Given the description of an element on the screen output the (x, y) to click on. 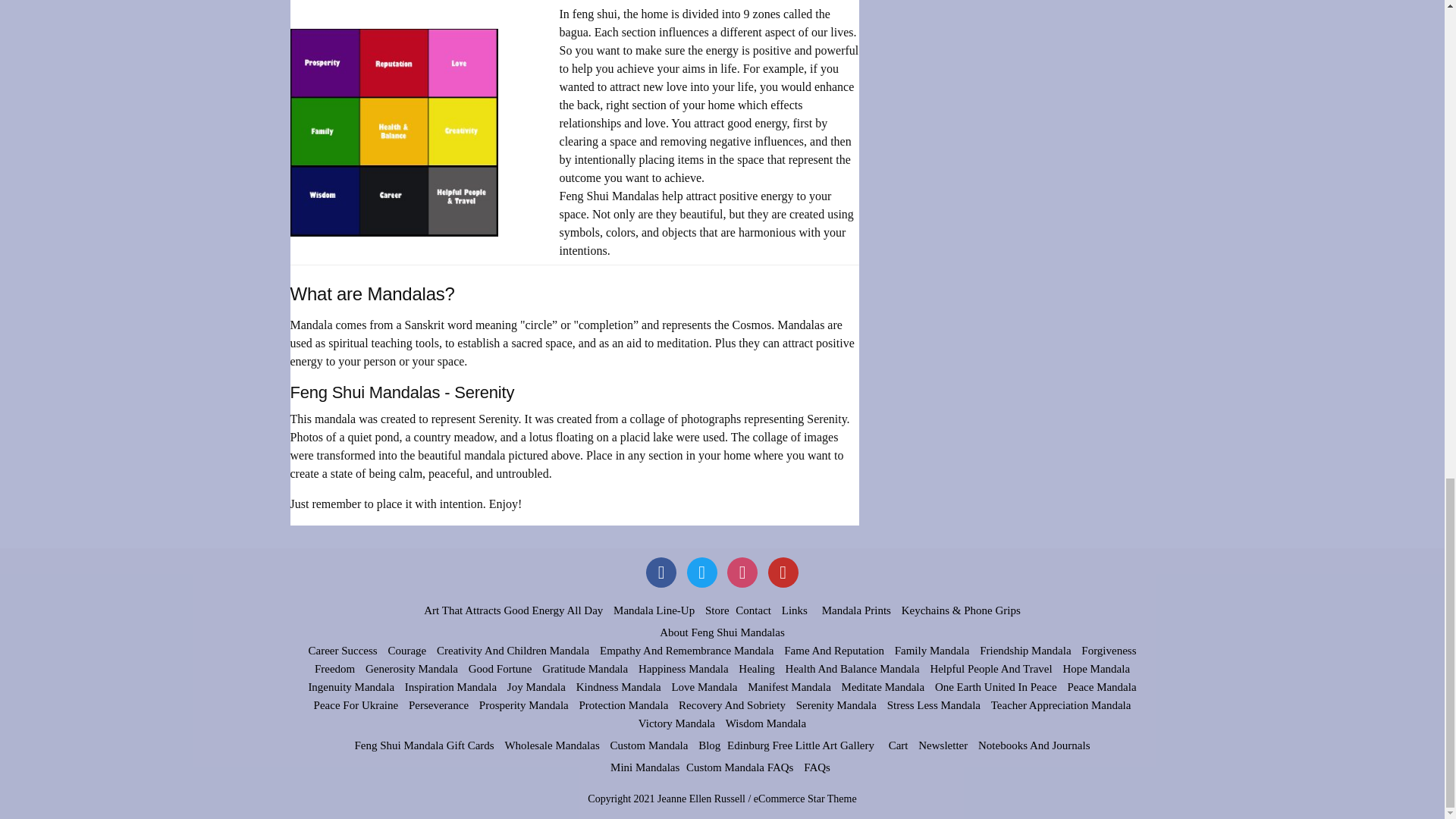
Instagram (741, 572)
Twitter (702, 572)
Facebook (661, 572)
YouTube (782, 572)
